Given the description of an element on the screen output the (x, y) to click on. 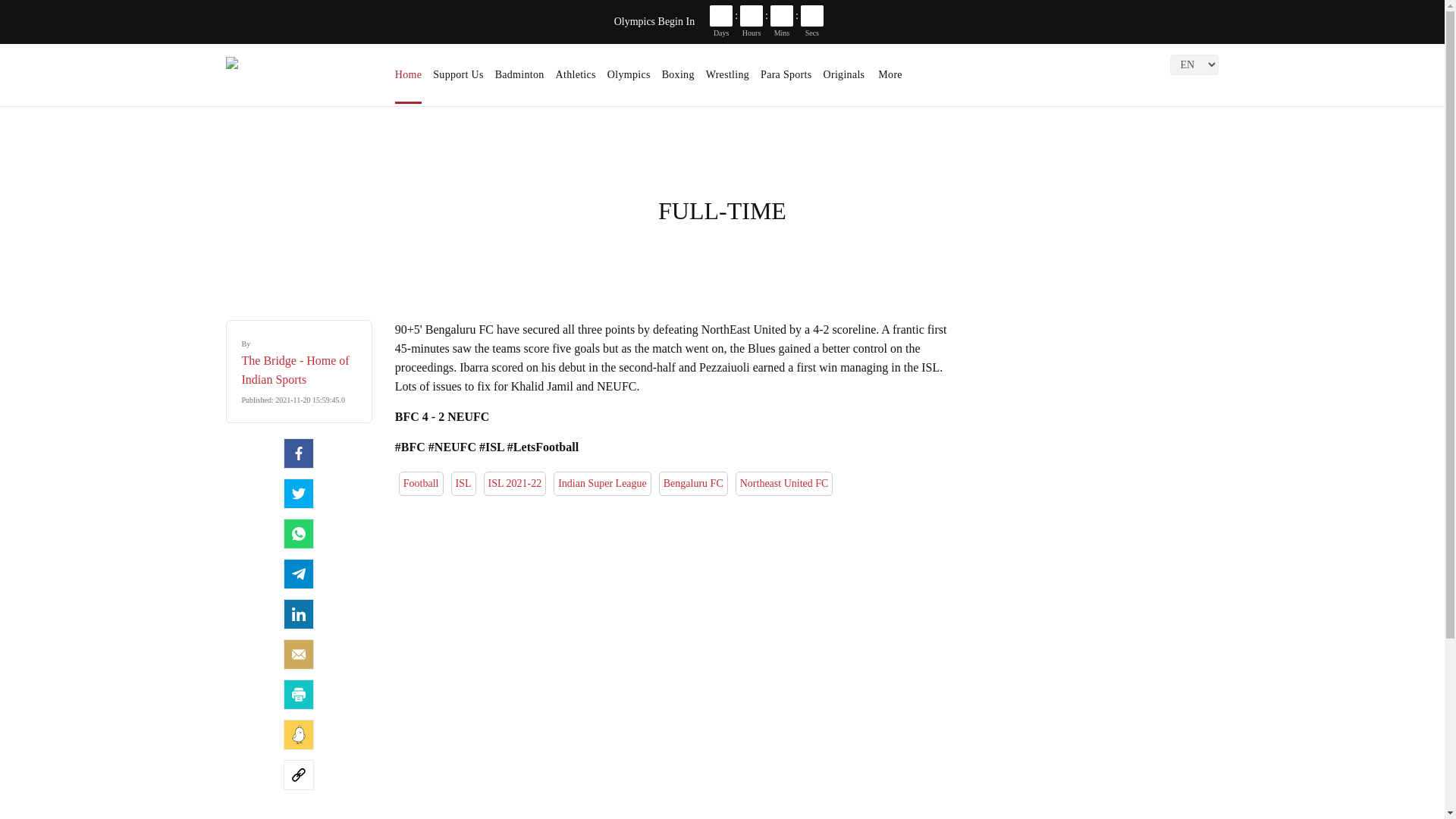
Home (408, 80)
Olympics (628, 80)
More (890, 79)
Share by Email (298, 654)
Wrestling (727, 80)
Originals (845, 79)
Badminton (519, 80)
Boxing (678, 80)
Athletics (575, 80)
Para Sports (785, 80)
LinkedIn (298, 613)
Support Us (457, 80)
